Given the description of an element on the screen output the (x, y) to click on. 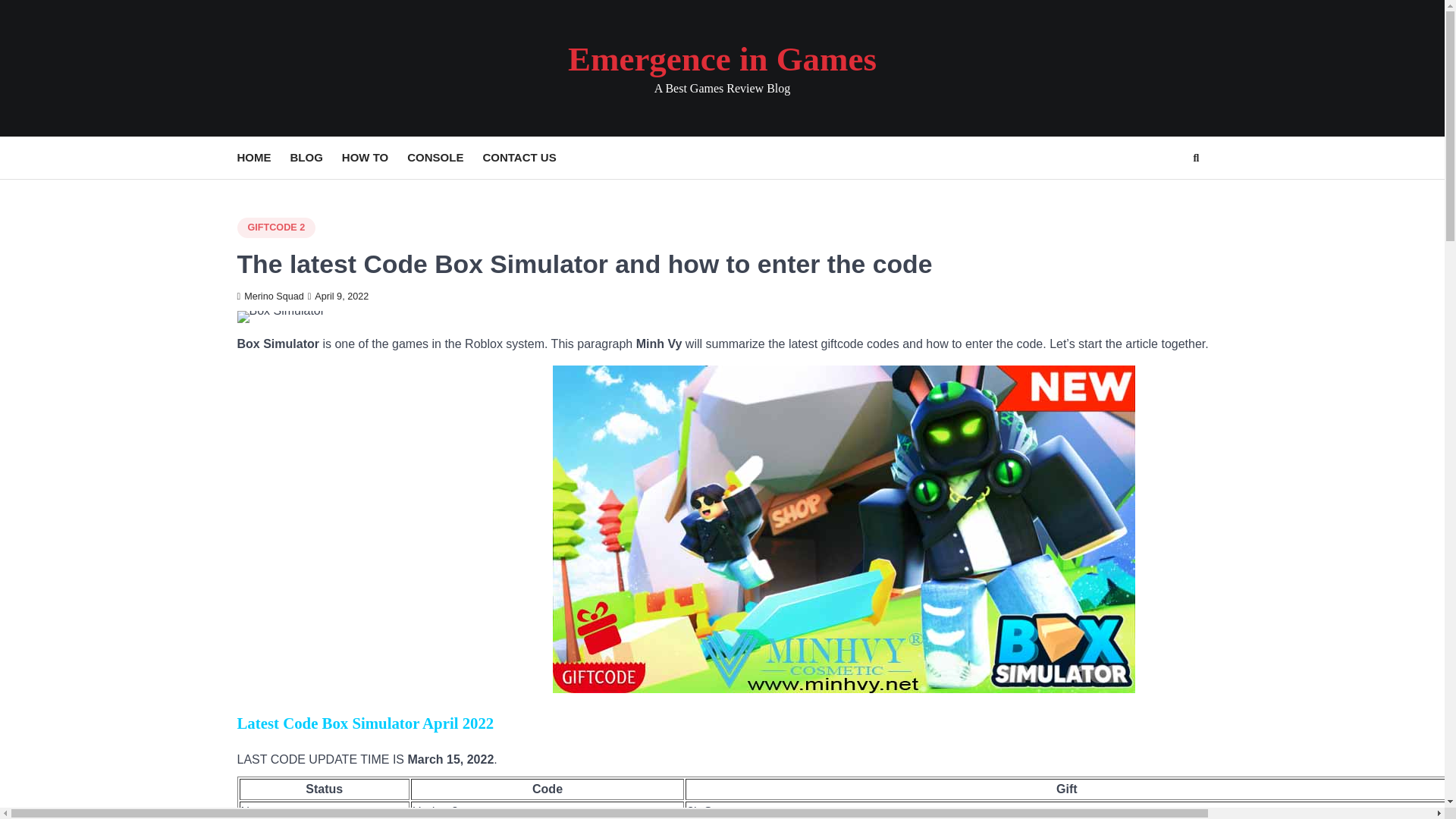
Search (1168, 194)
CONTACT US (528, 158)
HOW TO (374, 158)
Emergence in Games (721, 58)
CONSOLE (444, 158)
Search (1196, 158)
The latest Code Box Simulator and how to enter the code 1 (279, 316)
BLOG (314, 158)
Merino Squad (268, 296)
